Given the description of an element on the screen output the (x, y) to click on. 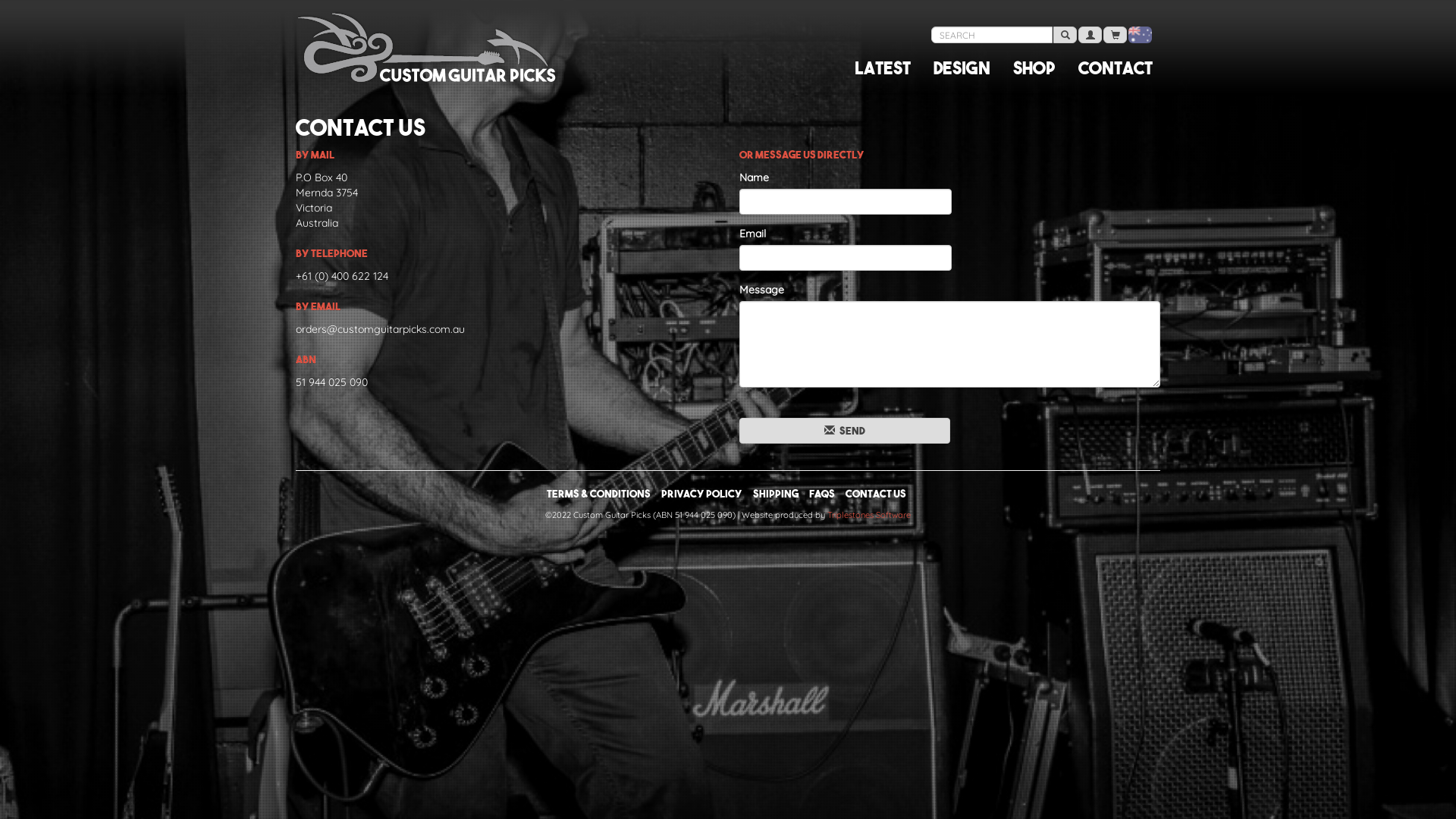
DESIGN Element type: text (961, 68)
   SEND Element type: text (844, 430)
Log In Element type: hover (1089, 34)
Home Element type: hover (378, 45)
Latest Element type: text (882, 68)
SHOP Element type: text (1033, 68)
Change currency Element type: hover (1139, 34)
orders@customguitarpicks.com.au Element type: text (379, 328)
TERMS & CONDITIONS Element type: text (597, 493)
CONTACT US Element type: text (874, 493)
SHIPPING Element type: text (774, 493)
Triplestones Software Element type: text (868, 514)
FAQS Element type: text (821, 493)
CONTACT Element type: text (1115, 68)
PRIVACY POLICY Element type: text (701, 493)
Shopping Cart Element type: hover (1114, 34)
